Given the description of an element on the screen output the (x, y) to click on. 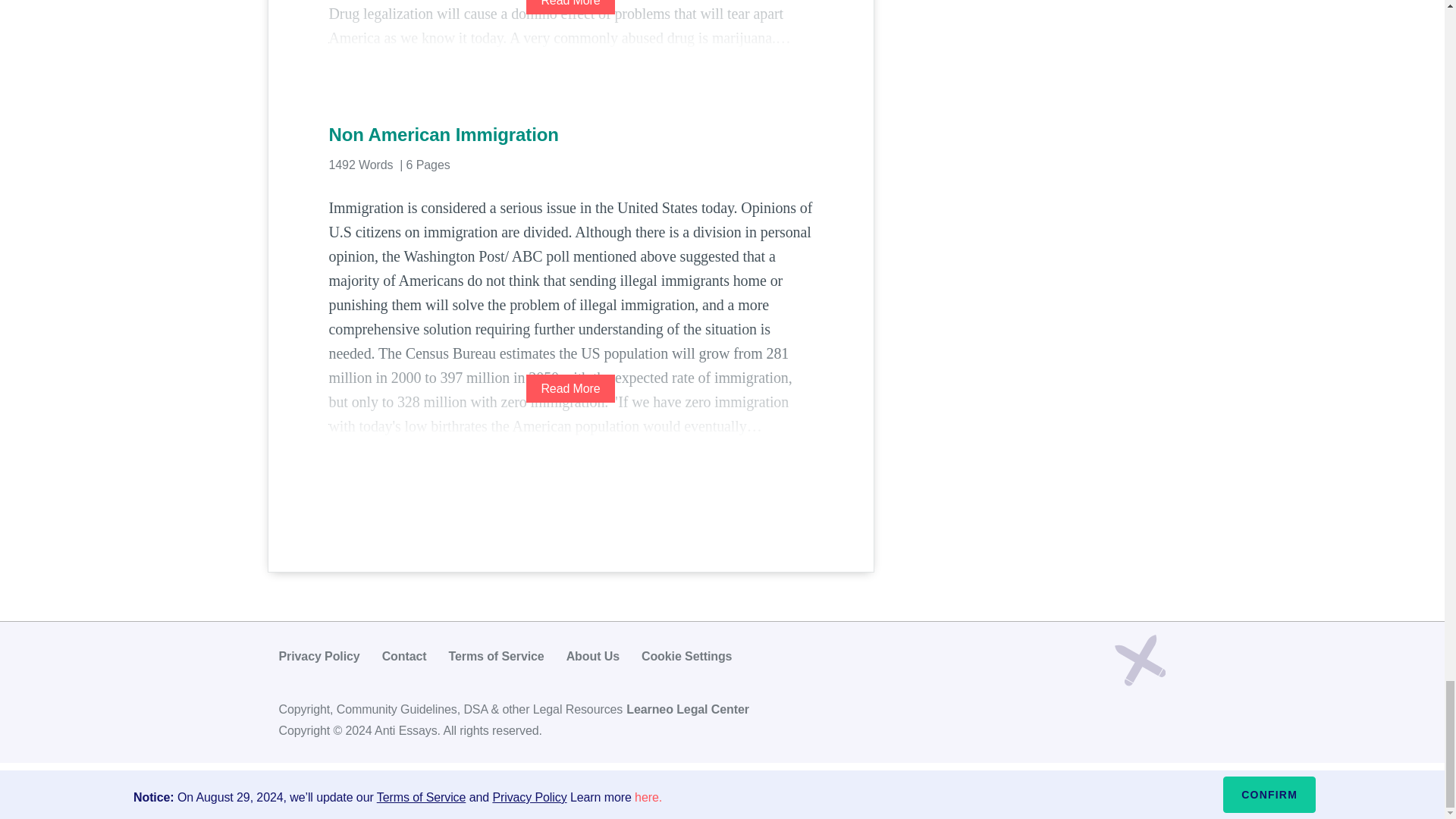
Read More (569, 7)
Contact (403, 656)
Privacy Policy (319, 656)
Non American Immigration (570, 134)
Read More (569, 388)
